Given the description of an element on the screen output the (x, y) to click on. 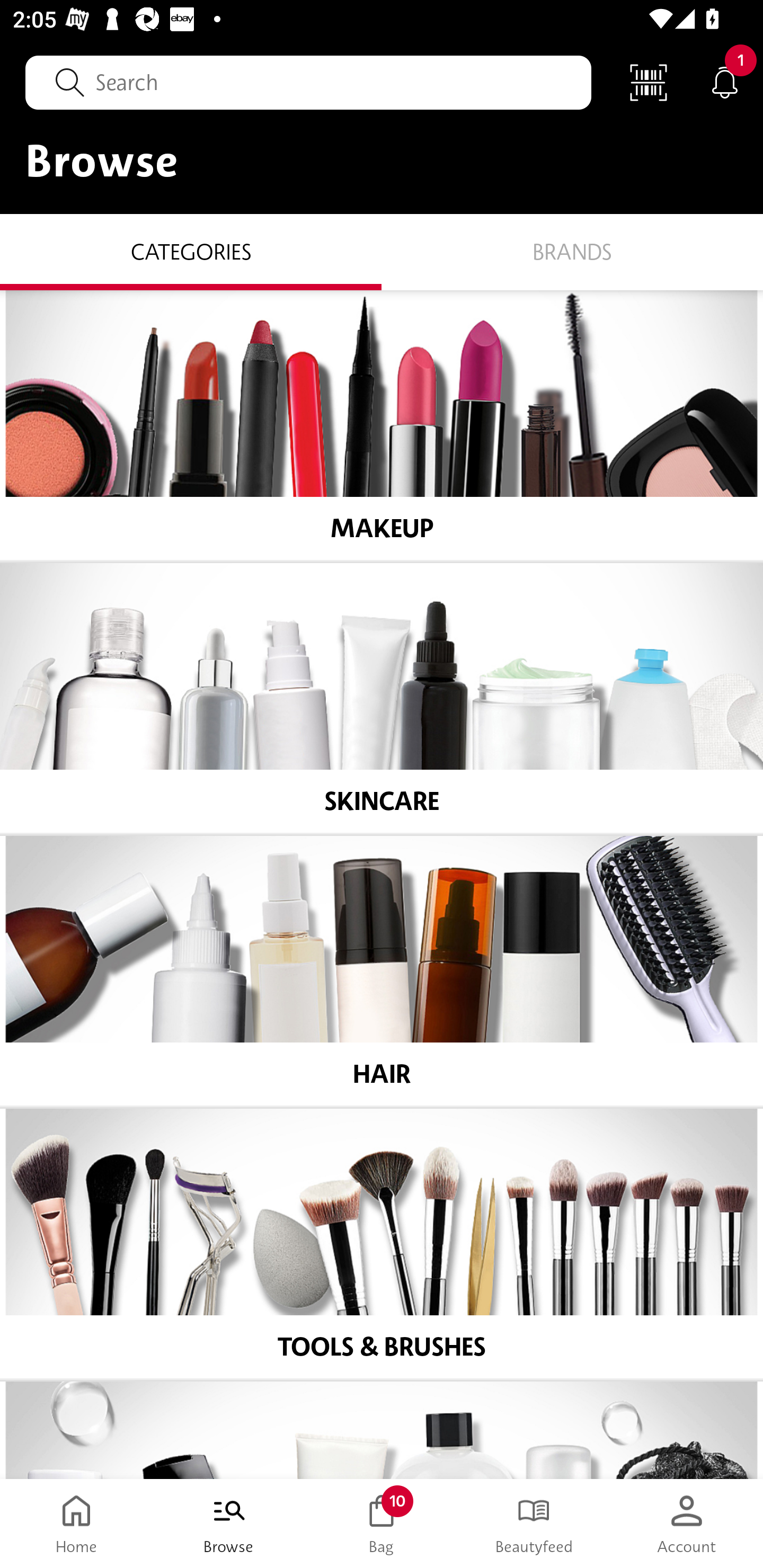
Scan Code (648, 81)
Notifications (724, 81)
Search (308, 81)
Brands BRANDS (572, 251)
MAKEUP (381, 425)
SKINCARE (381, 698)
HAIR (381, 971)
TOOLS & BRUSHES (381, 1243)
Home (76, 1523)
Bag 10 Bag (381, 1523)
Beautyfeed (533, 1523)
Account (686, 1523)
